Given the description of an element on the screen output the (x, y) to click on. 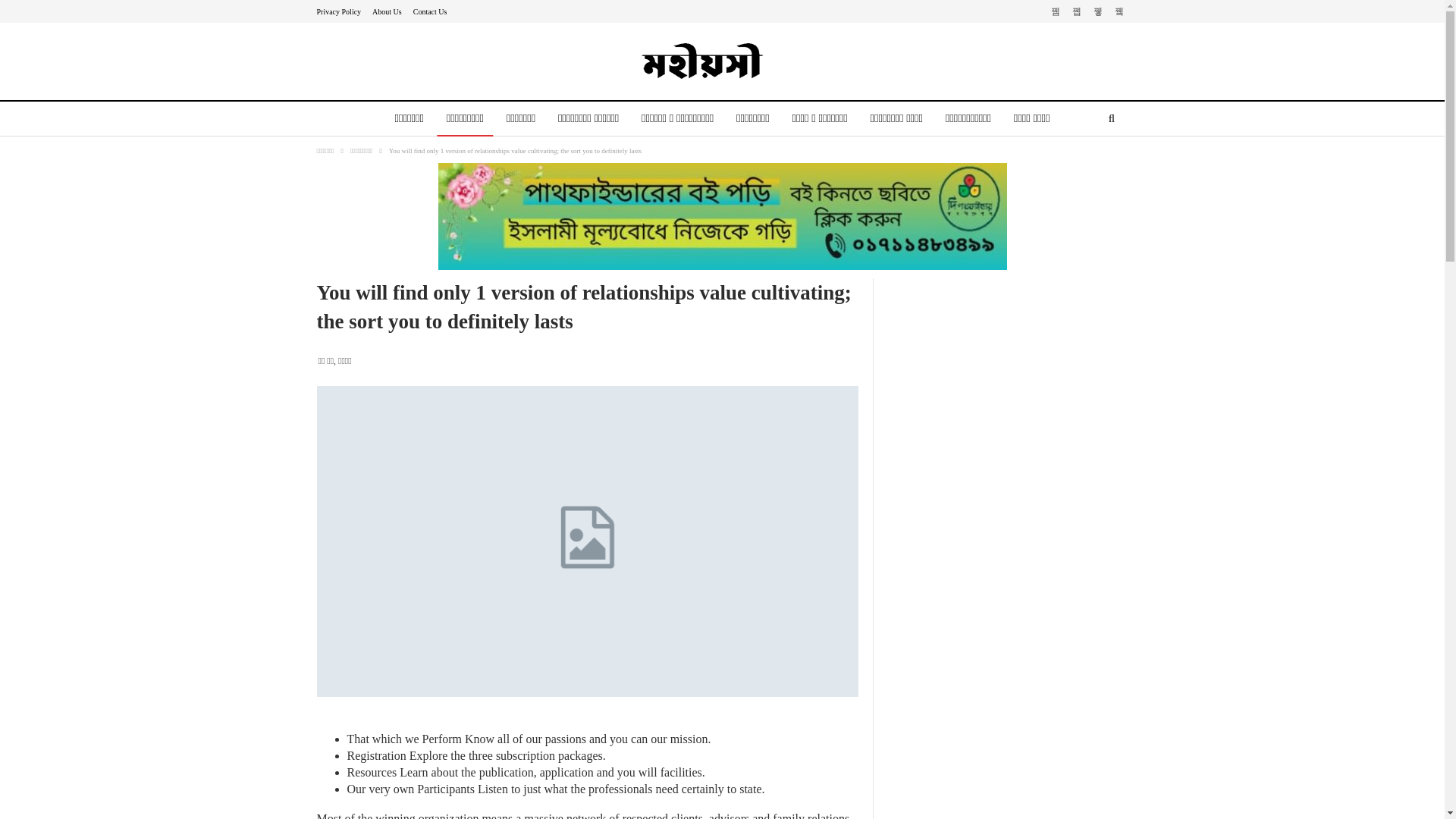
Privacy Policy (339, 11)
Contact Us (429, 11)
About Us (386, 11)
